Given the description of an element on the screen output the (x, y) to click on. 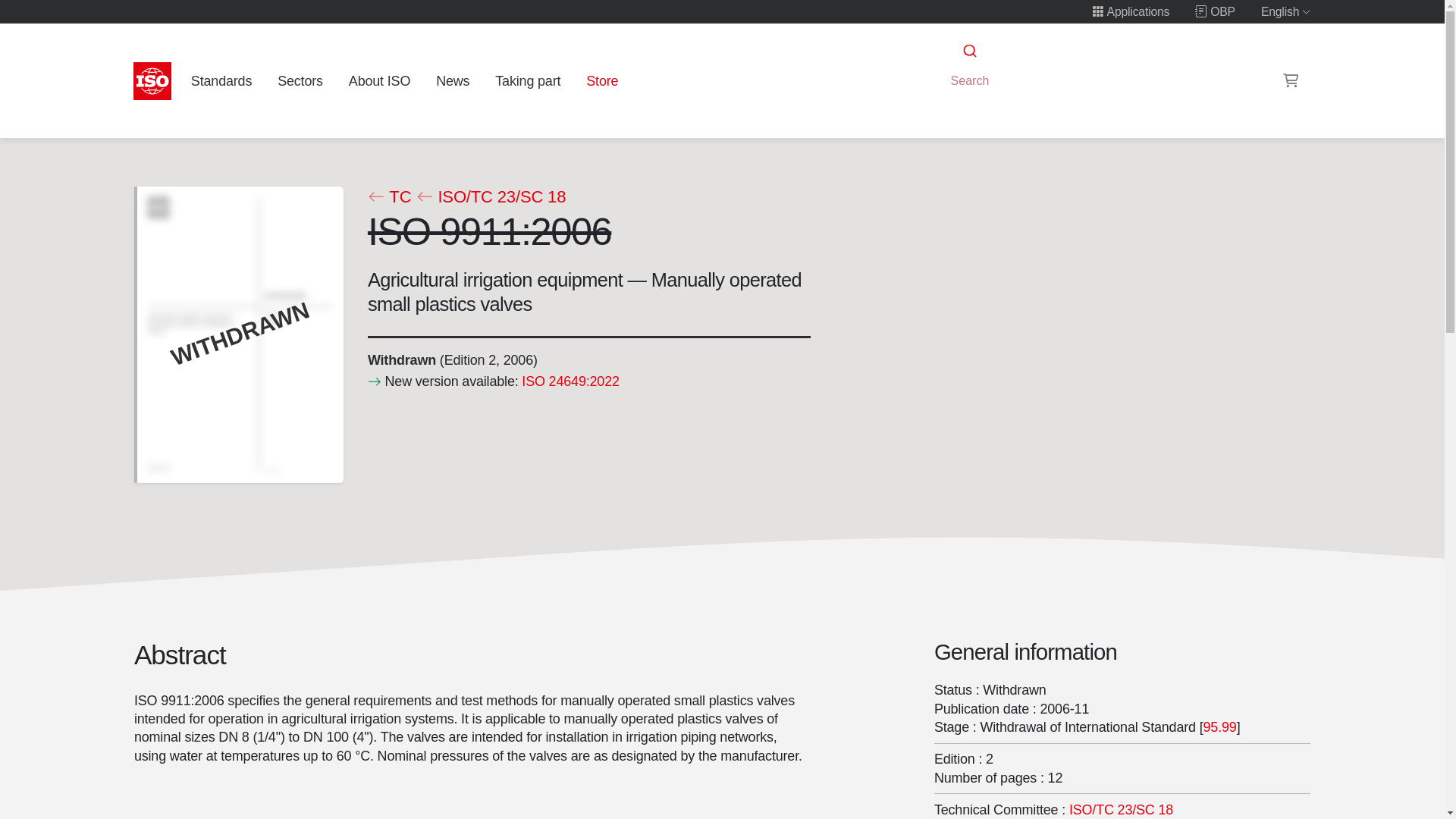
Taking part (528, 80)
Store (601, 80)
95.99 (1220, 726)
TC (388, 197)
 OBP (1214, 11)
95.99 (1220, 726)
Online Browsing Platform (1214, 11)
About ISO (379, 80)
International Organization for Standardization (152, 80)
 Applications (1130, 11)
ISO 24649:2022 (569, 381)
Sectors (300, 80)
Withdrawn (400, 359)
